Given the description of an element on the screen output the (x, y) to click on. 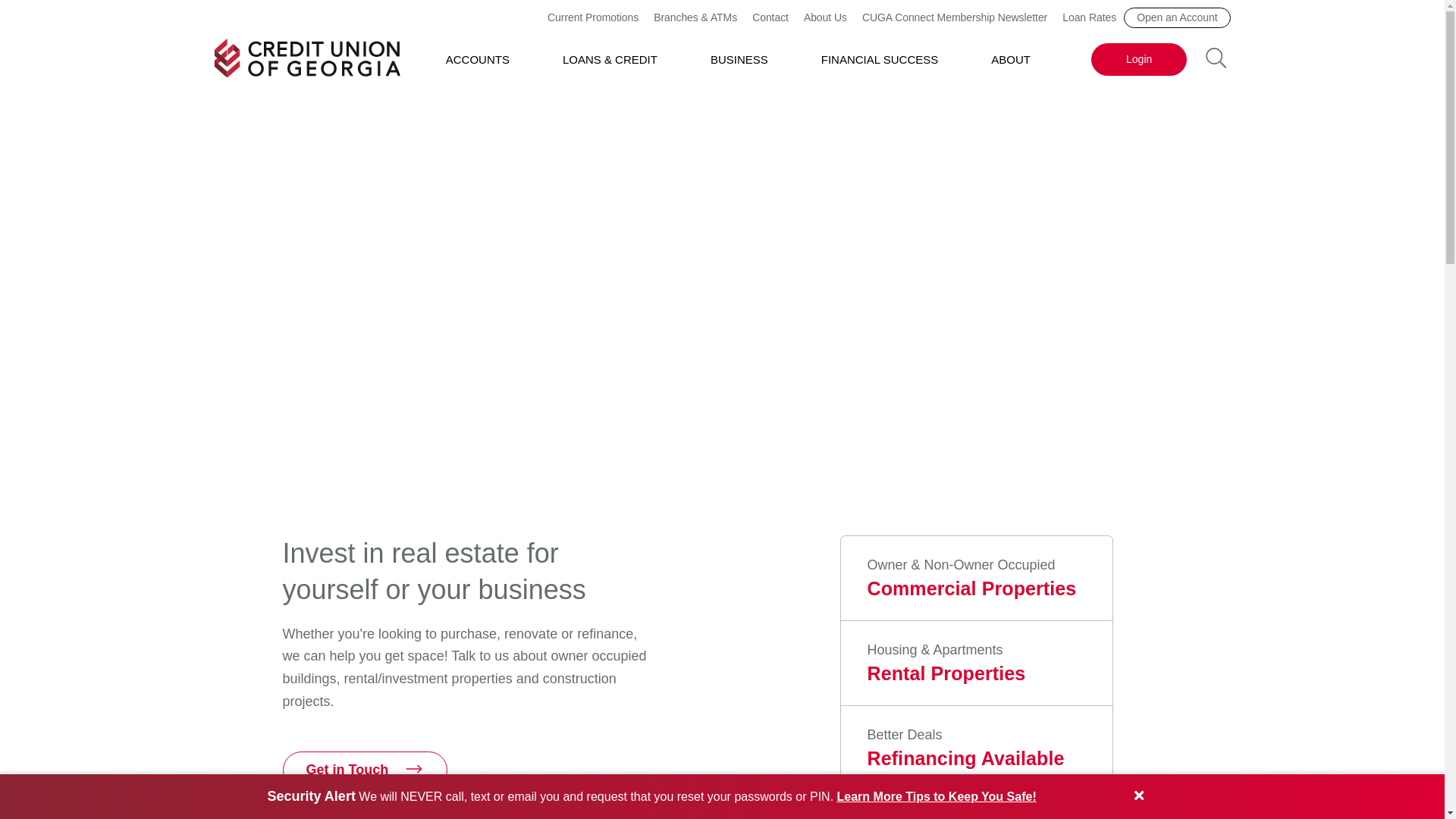
Current Promotions (593, 17)
Contact (770, 17)
ACCOUNTS (477, 59)
Loan Rates (1089, 17)
About Us (825, 17)
Credit Union of Georgia - Homepage (306, 57)
search Created with Sketch. (1216, 56)
CUGA Connect Membership Newsletter (954, 17)
Open an Account (1177, 17)
